Given the description of an element on the screen output the (x, y) to click on. 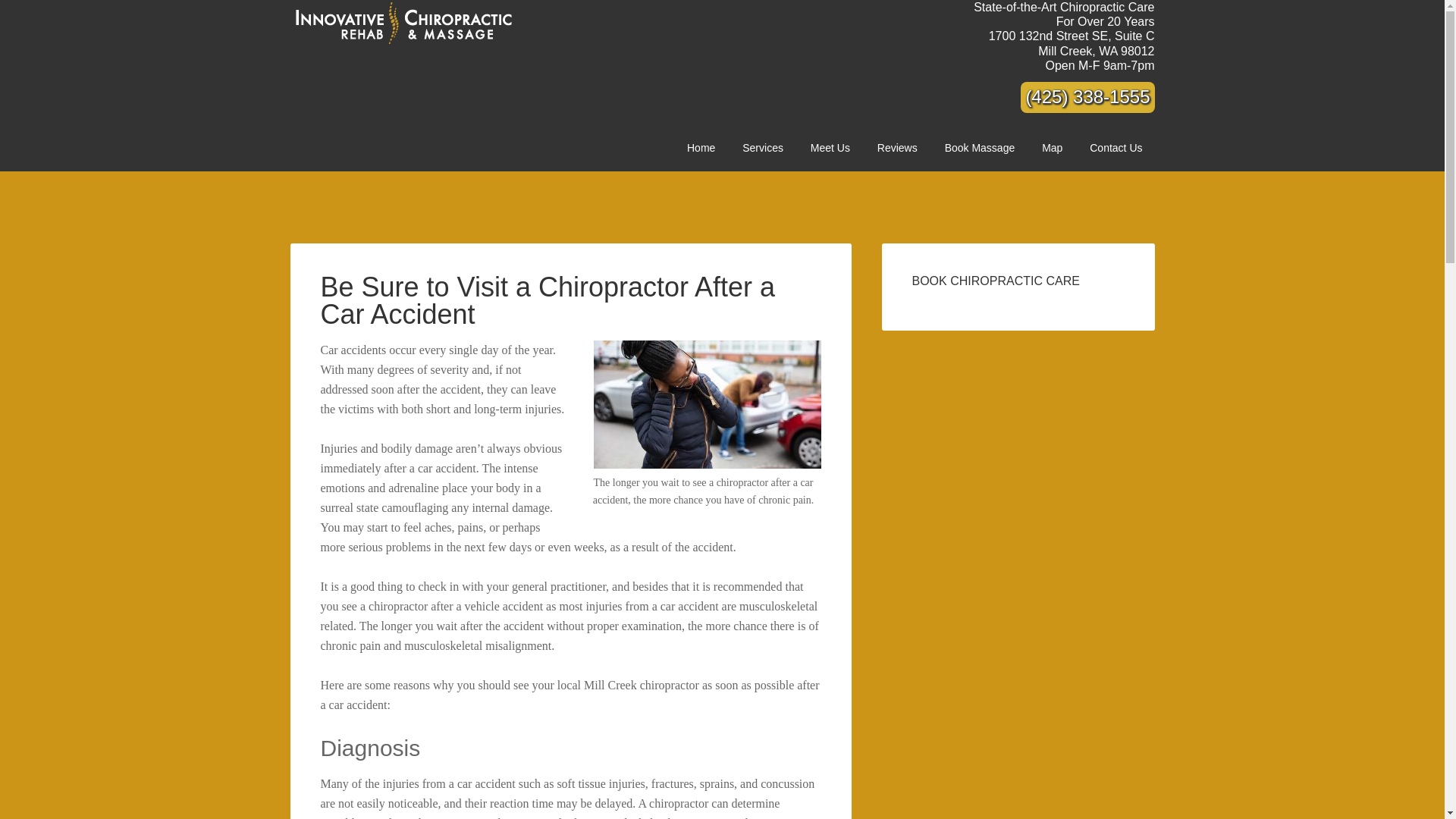
Services (762, 148)
Book Massage (980, 148)
Meet Us (1071, 42)
Contact Us (829, 148)
Home (1115, 148)
Map (700, 148)
Reviews (1051, 148)
